Given the description of an element on the screen output the (x, y) to click on. 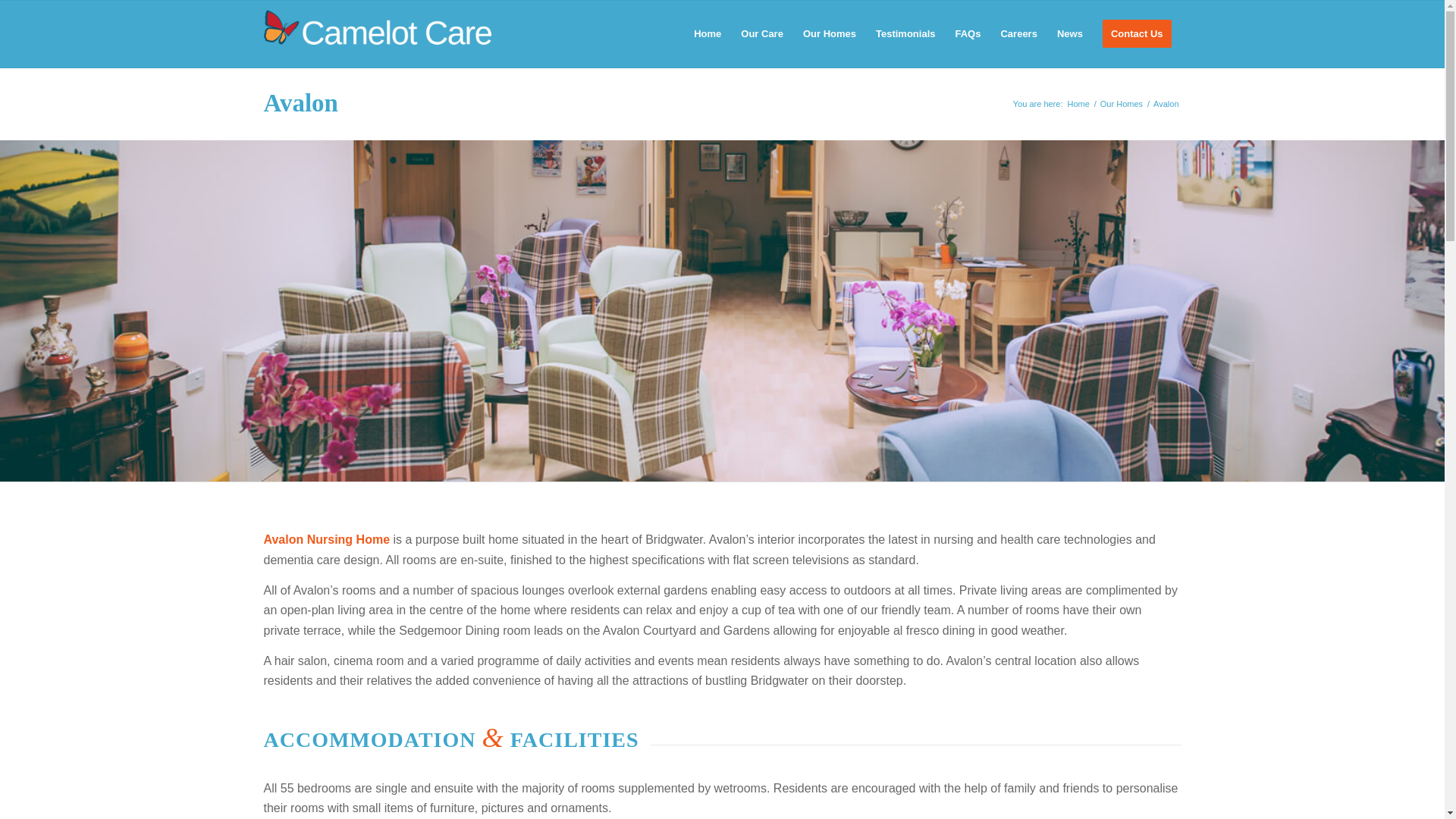
Testimonials (905, 33)
Avalon (300, 103)
Our Homes (829, 33)
Our Homes (1120, 103)
Permanent Link: Avalon (300, 103)
Camelot Care Dementia Nursing Homes, Somerset (1077, 103)
Home (1077, 103)
Our Homes (1120, 103)
Contact Us (1136, 33)
Our Care (761, 33)
